Given the description of an element on the screen output the (x, y) to click on. 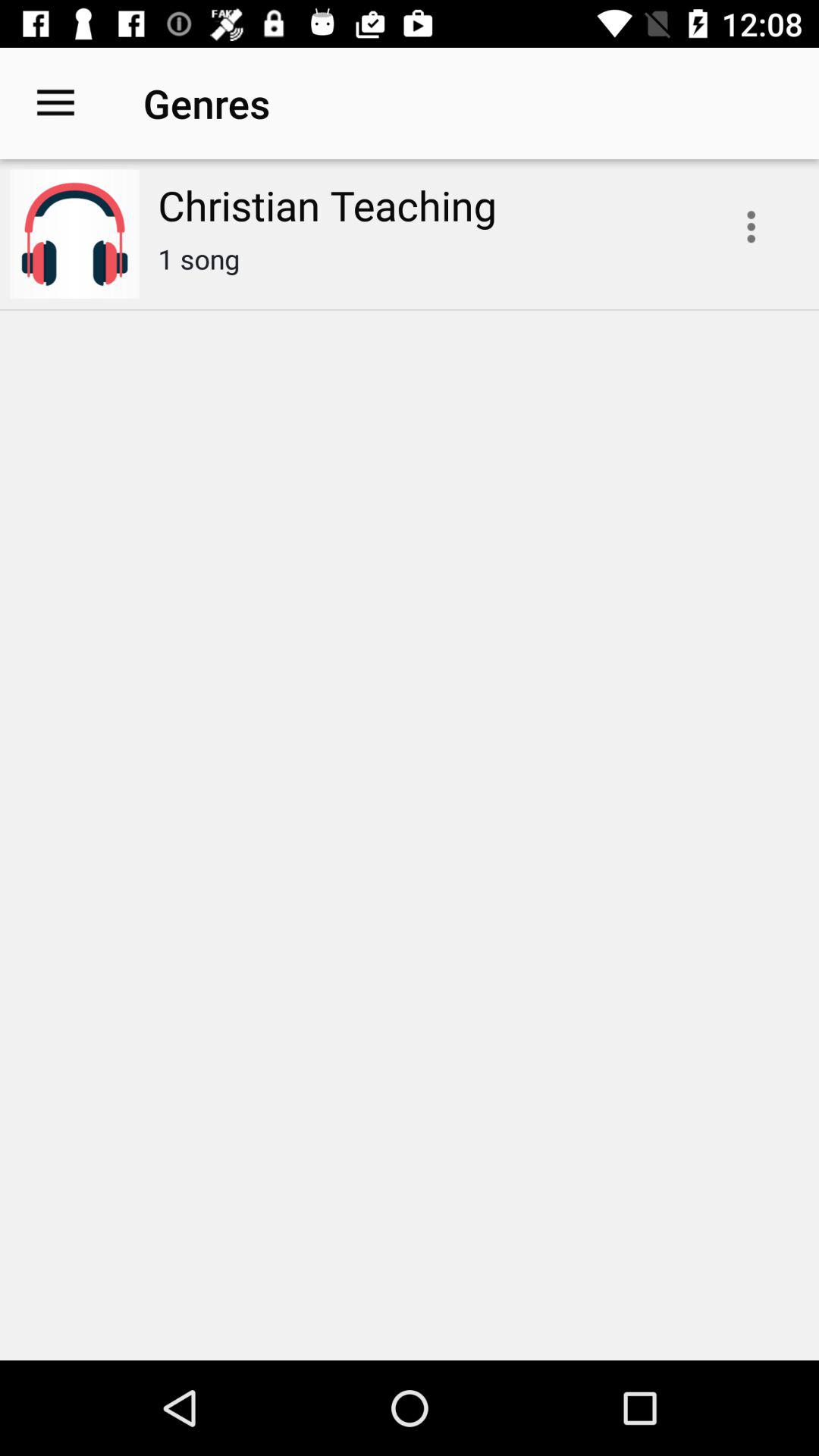
open drop down menu (750, 226)
